Given the description of an element on the screen output the (x, y) to click on. 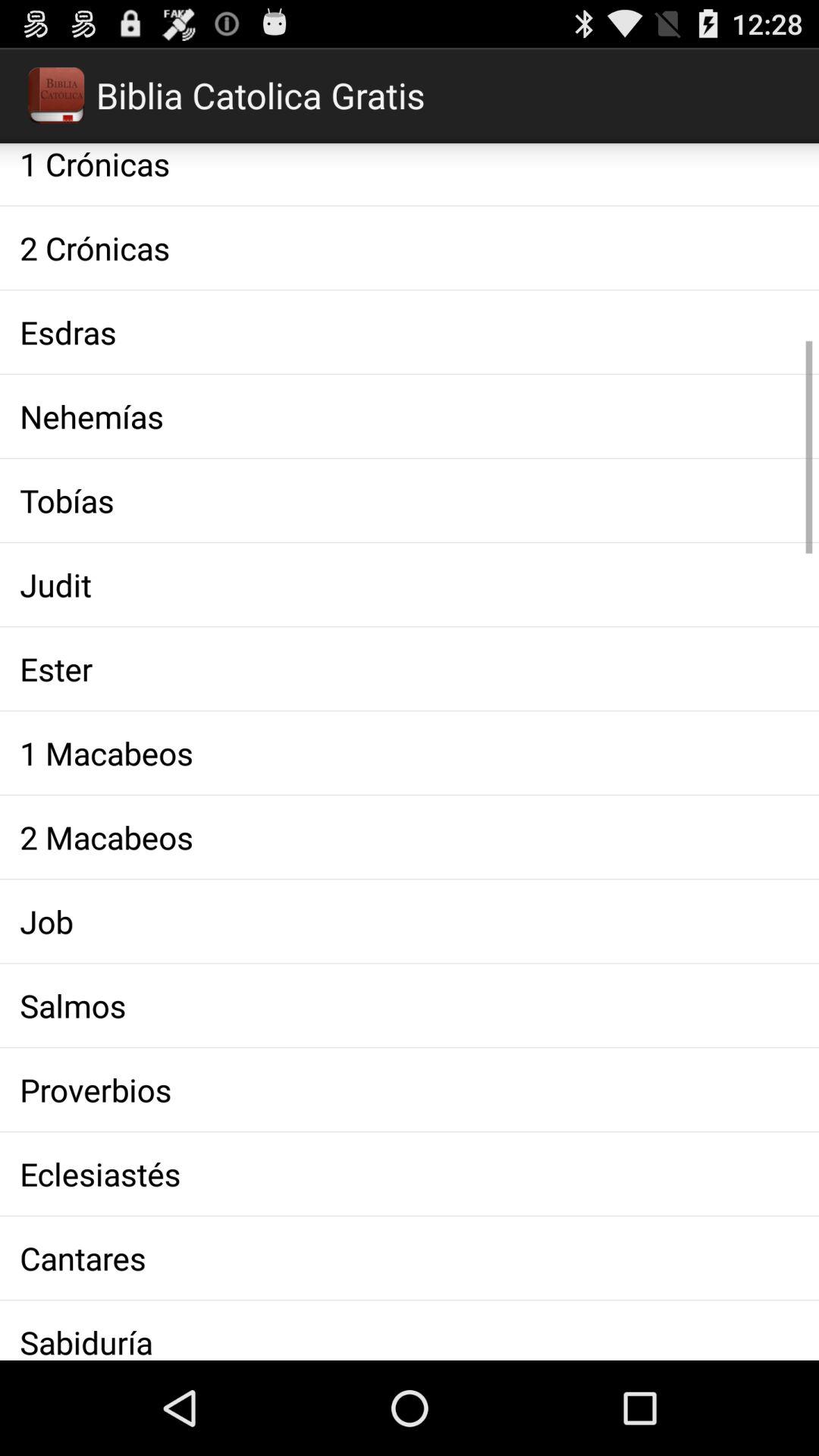
scroll to esdras icon (409, 331)
